Given the description of an element on the screen output the (x, y) to click on. 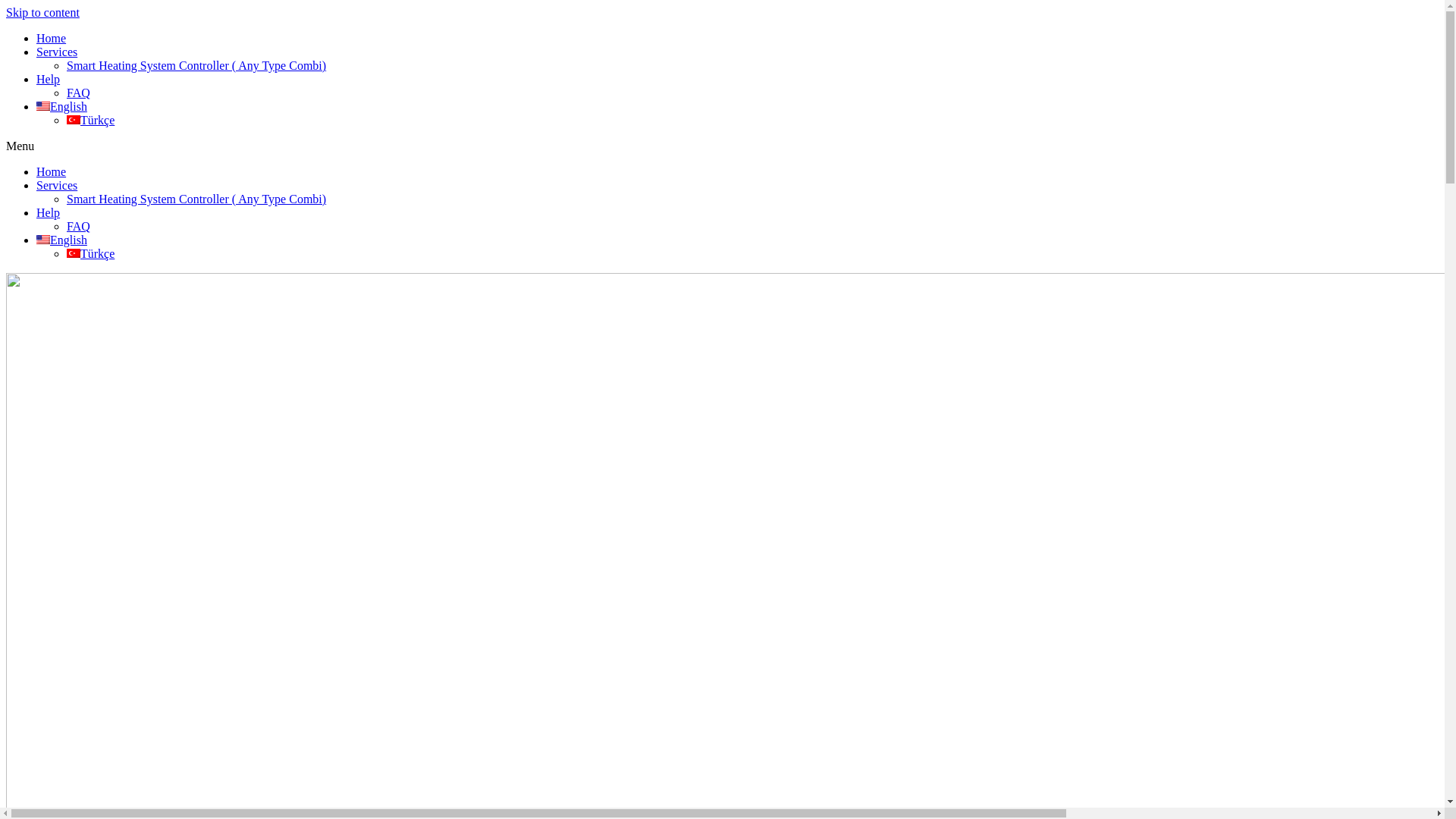
FAQ Element type: text (78, 92)
English Element type: text (61, 239)
Skip to content Element type: text (42, 12)
English Element type: hover (43, 239)
FAQ Element type: text (78, 225)
Help Element type: text (47, 78)
Smart Heating System Controller ( Any Type Combi) Element type: text (196, 65)
Home Element type: text (50, 171)
Home Element type: text (50, 37)
English Element type: text (61, 106)
Smart Heating System Controller ( Any Type Combi) Element type: text (196, 198)
English Element type: hover (43, 105)
Services Element type: text (56, 51)
Services Element type: text (56, 184)
Help Element type: text (47, 212)
